Given the description of an element on the screen output the (x, y) to click on. 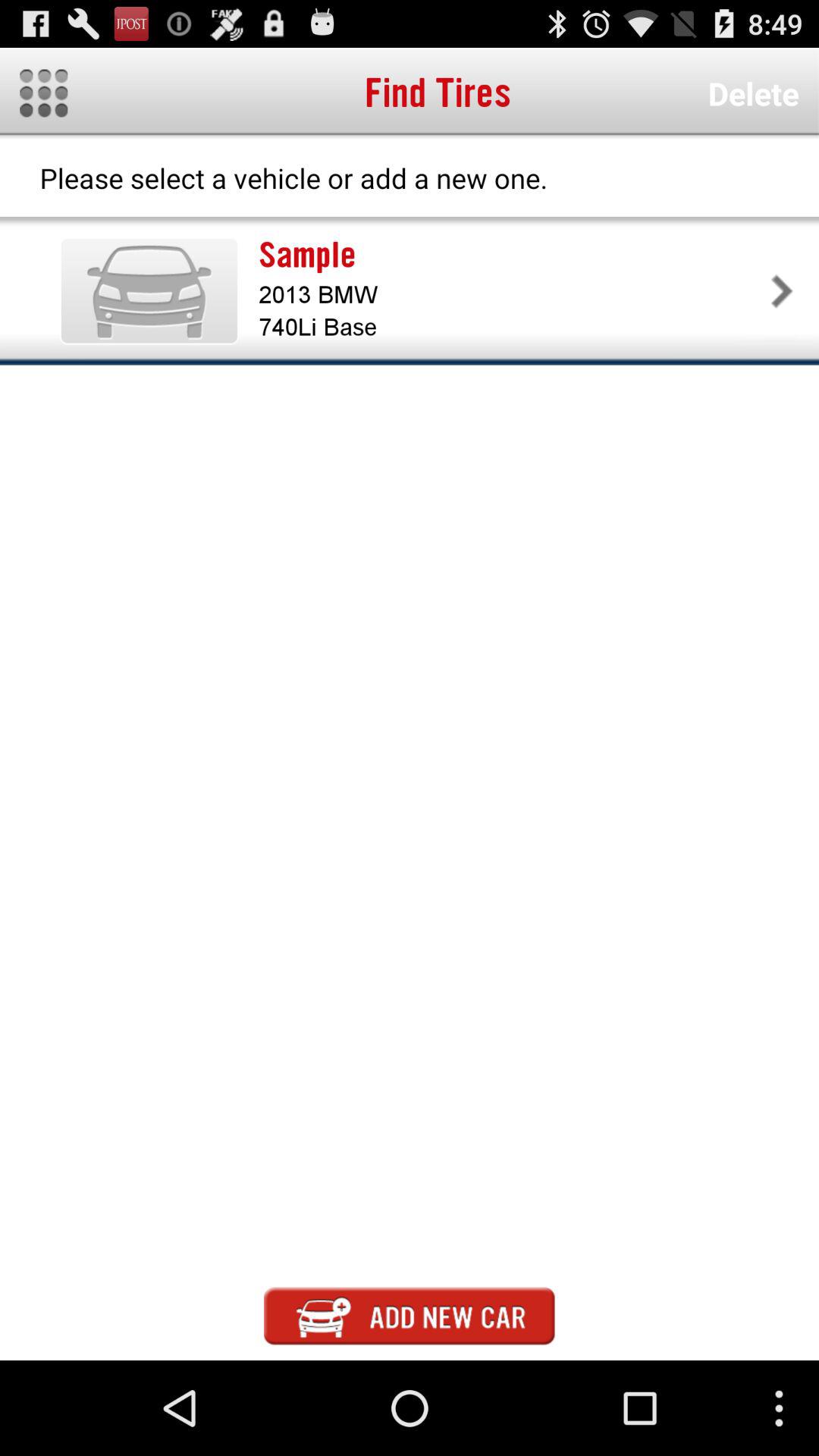
click item next to the sample icon (148, 290)
